Given the description of an element on the screen output the (x, y) to click on. 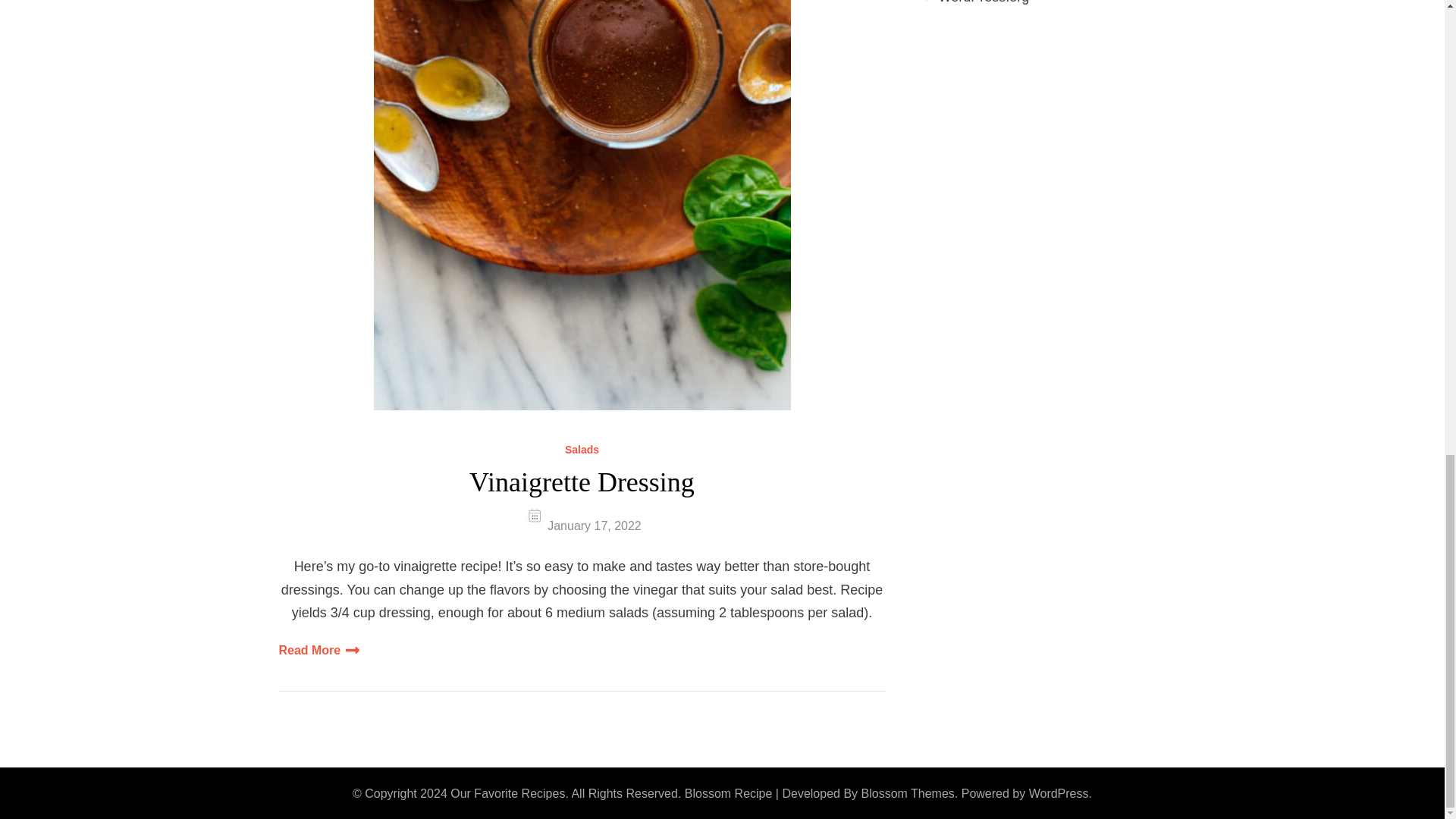
WordPress (1059, 793)
Read More (319, 649)
Blossom Themes (908, 793)
Our Favorite Recipes (506, 793)
WordPress.org (984, 2)
January 17, 2022 (594, 525)
Salads (581, 449)
Vinaigrette Dressing (581, 482)
